Given the description of an element on the screen output the (x, y) to click on. 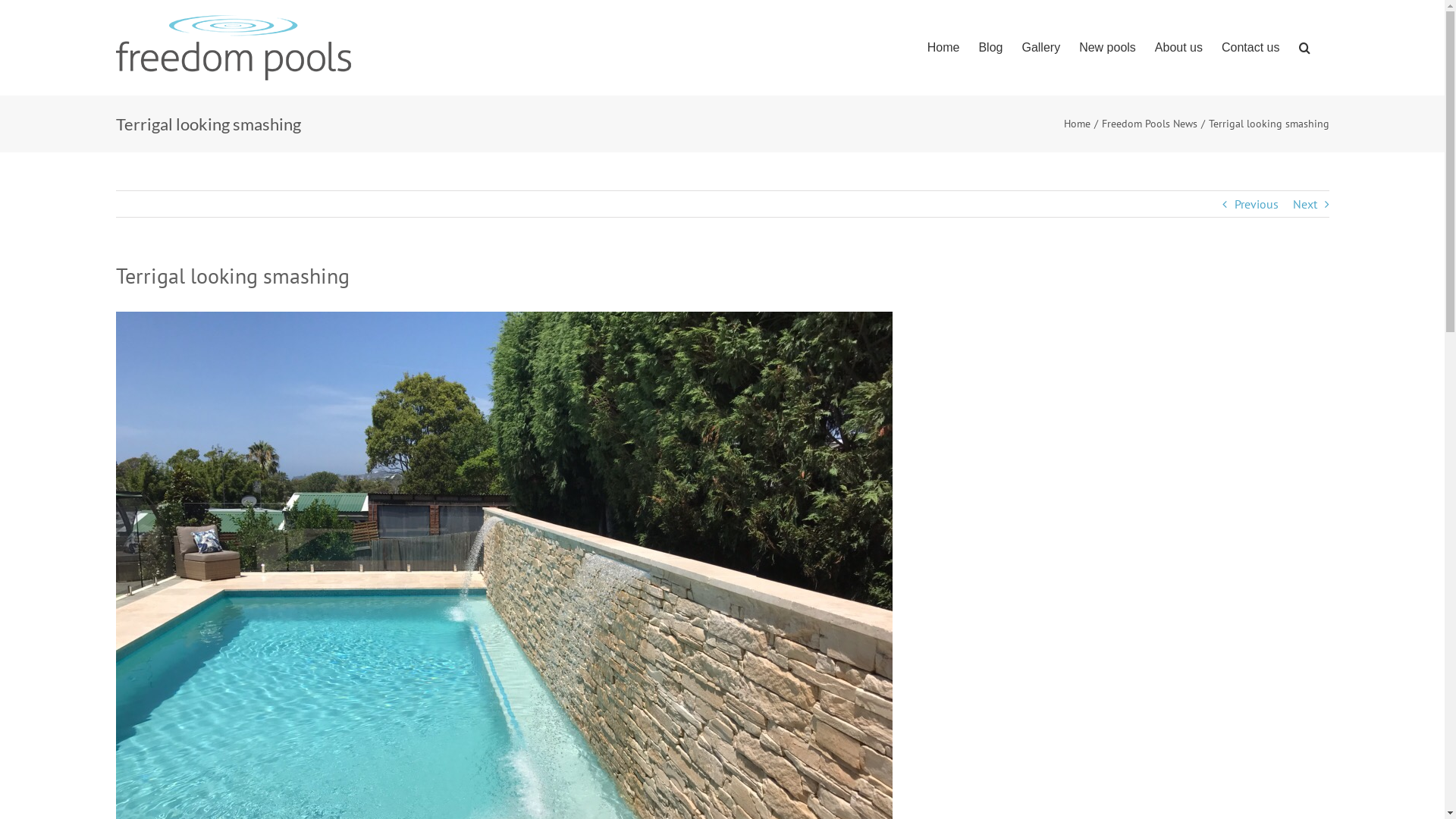
Home Element type: text (943, 47)
Next Element type: text (1304, 203)
Freedom Pools News Element type: text (1148, 123)
Search Element type: hover (1303, 47)
Gallery Element type: text (1040, 47)
New pools Element type: text (1107, 47)
Home Element type: text (1076, 123)
Contact us Element type: text (1250, 47)
Blog Element type: text (990, 47)
Previous Element type: text (1256, 203)
About us Element type: text (1178, 47)
